Given the description of an element on the screen output the (x, y) to click on. 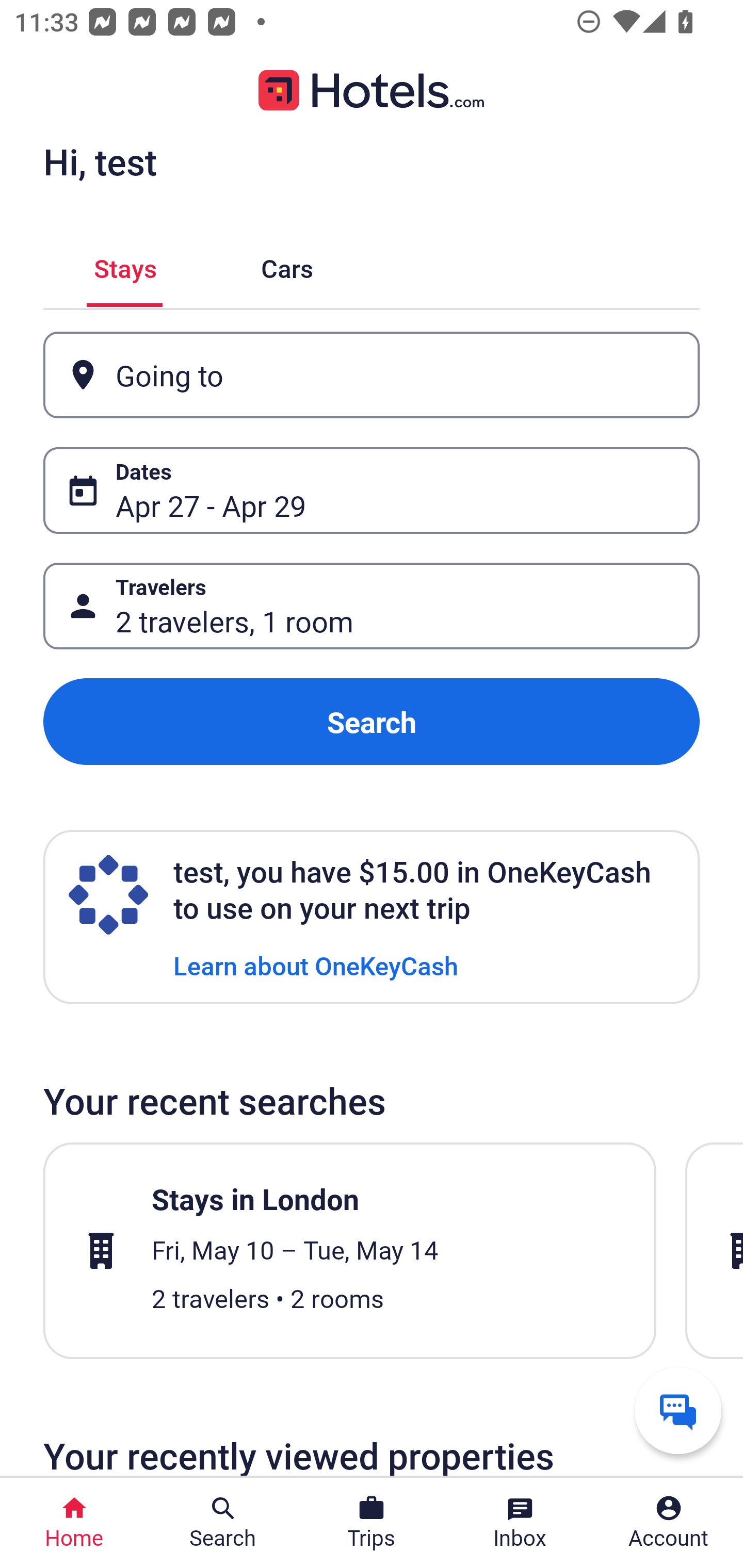
Hi, test (99, 161)
Cars (286, 265)
Going to Button (371, 375)
Dates Button Apr 27 - Apr 29 (371, 489)
Travelers Button 2 travelers, 1 room (371, 605)
Search (371, 721)
Learn about OneKeyCash Learn about OneKeyCash Link (315, 964)
Get help from a virtual agent (677, 1410)
Search Search Button (222, 1522)
Trips Trips Button (371, 1522)
Inbox Inbox Button (519, 1522)
Account Profile. Button (668, 1522)
